Given the description of an element on the screen output the (x, y) to click on. 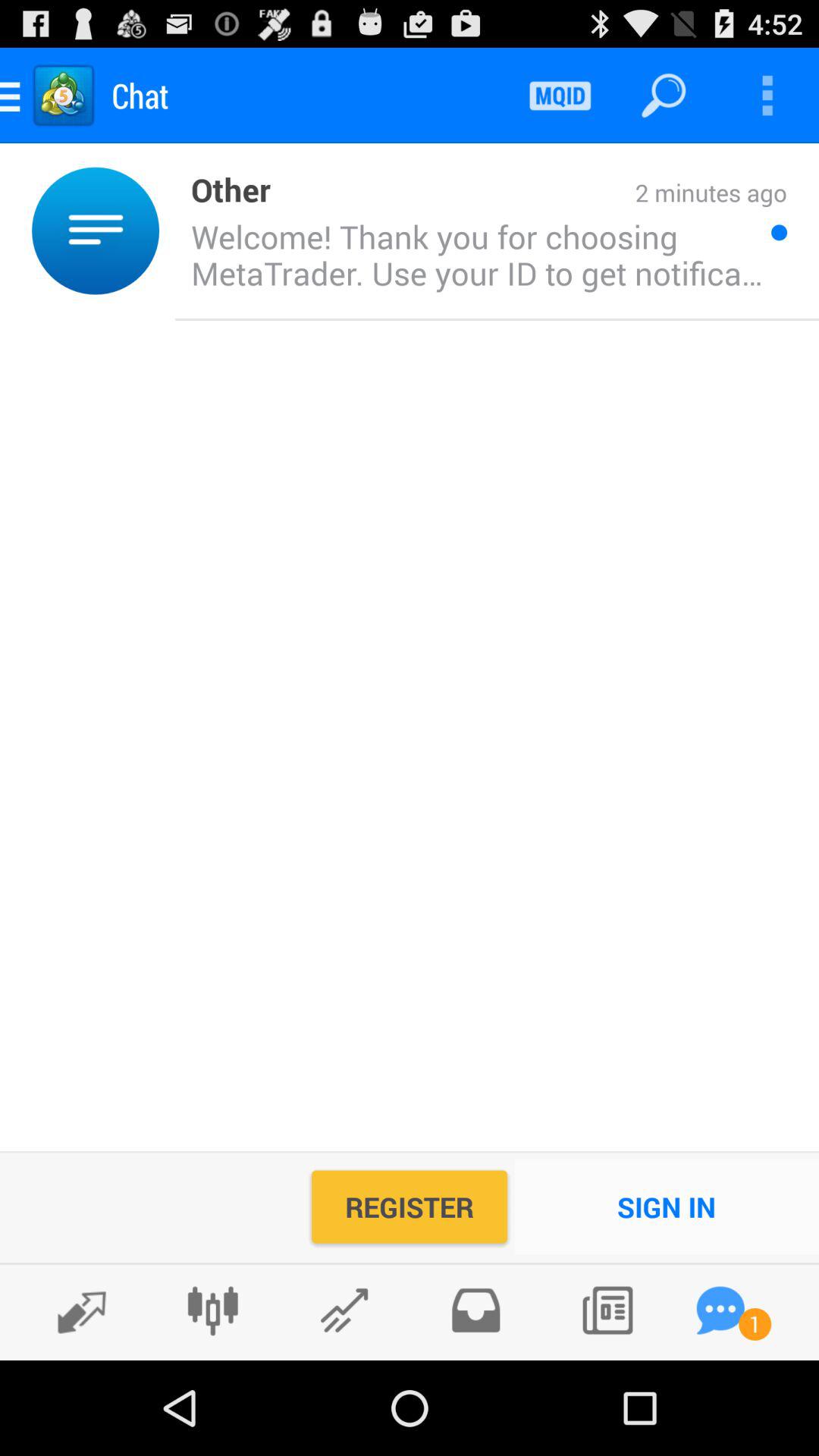
turn off item to the right of register (666, 1206)
